Given the description of an element on the screen output the (x, y) to click on. 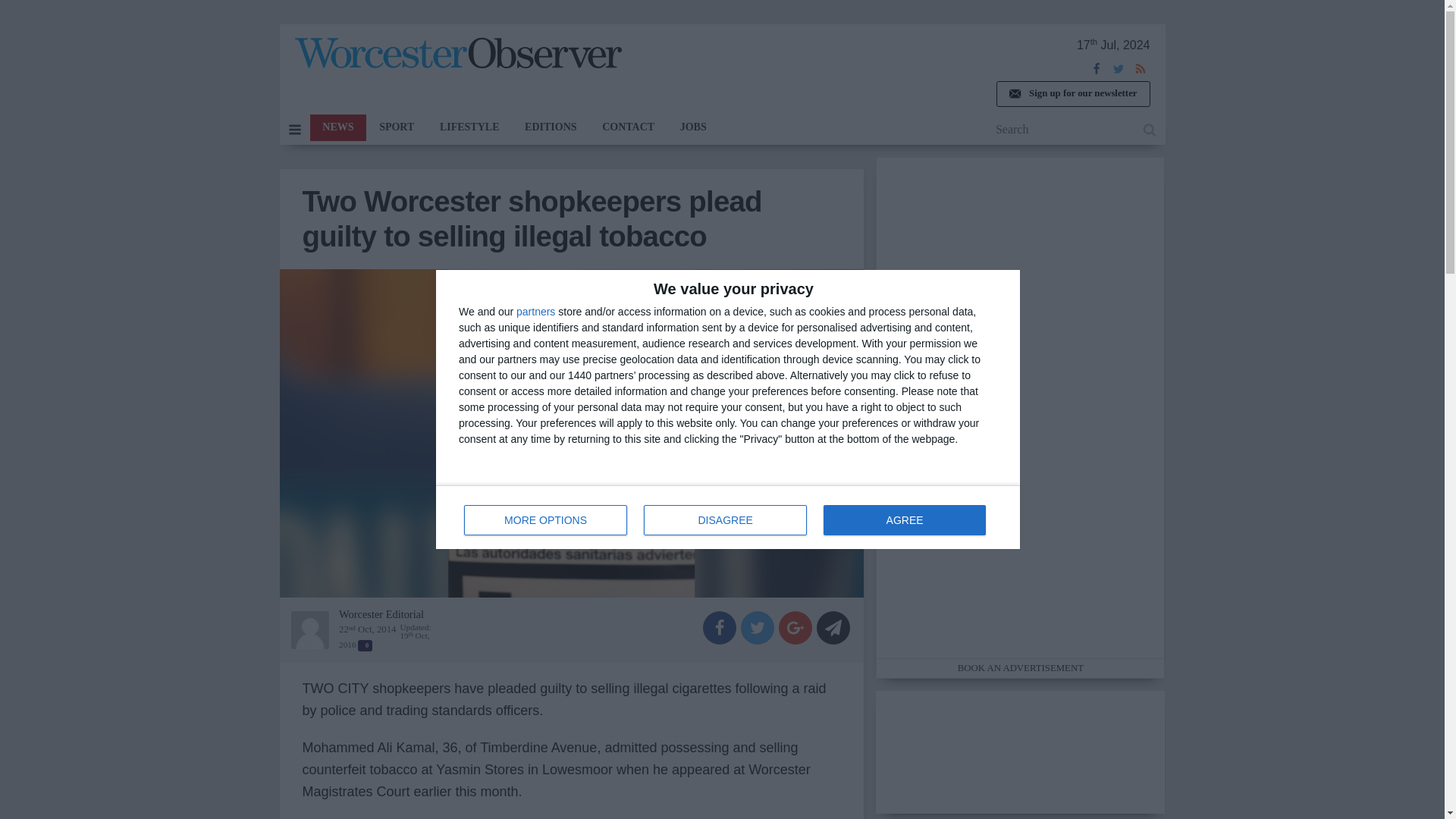
DISAGREE (724, 520)
AGREE (904, 520)
The Worcester Observer (457, 55)
partners (535, 311)
NEWS (727, 516)
  Sign up for our newsletter (337, 127)
SPORT (1072, 94)
MORE OPTIONS (396, 127)
